Given the description of an element on the screen output the (x, y) to click on. 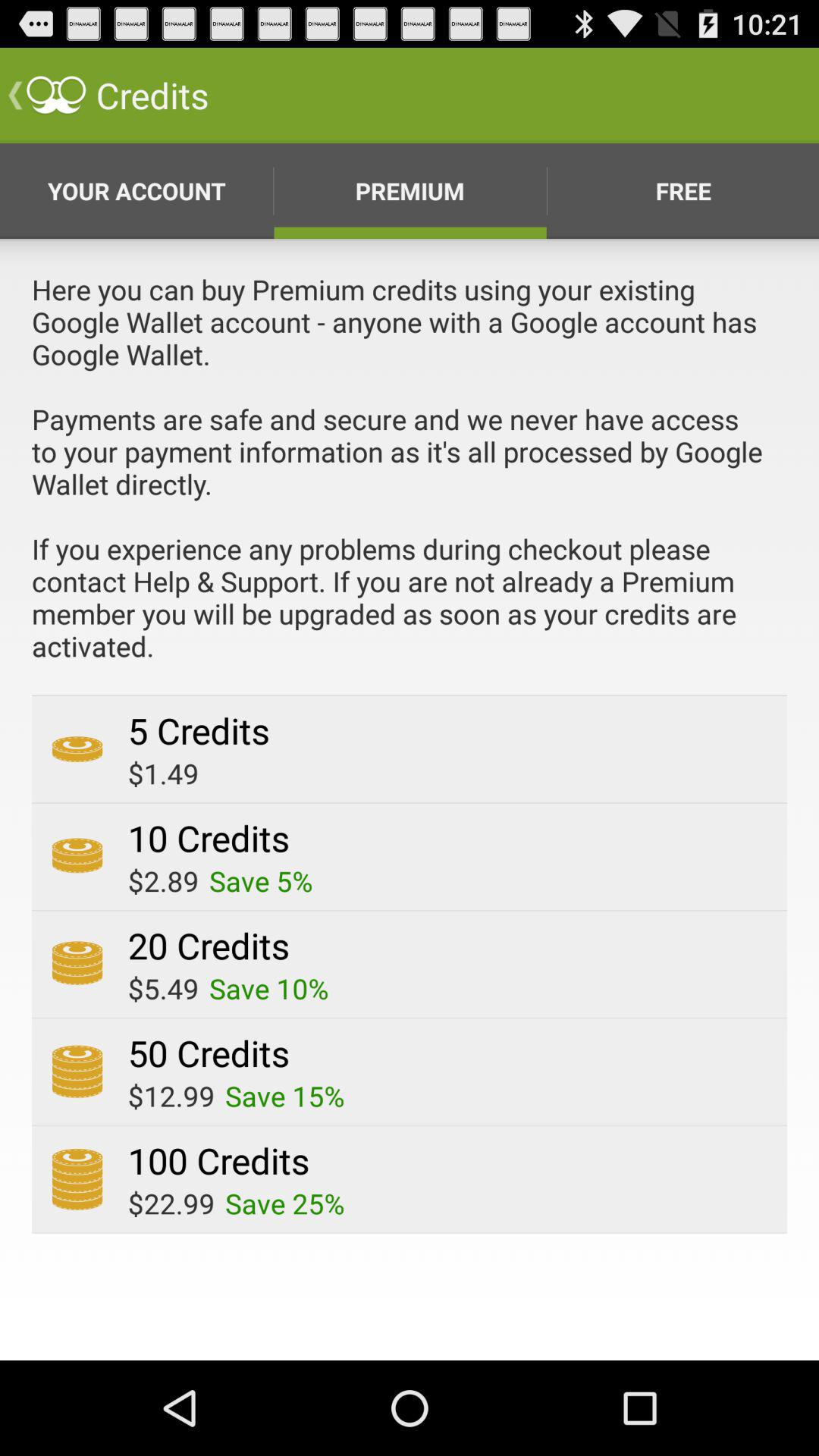
click the app next to the $22.99 icon (284, 1203)
